Given the description of an element on the screen output the (x, y) to click on. 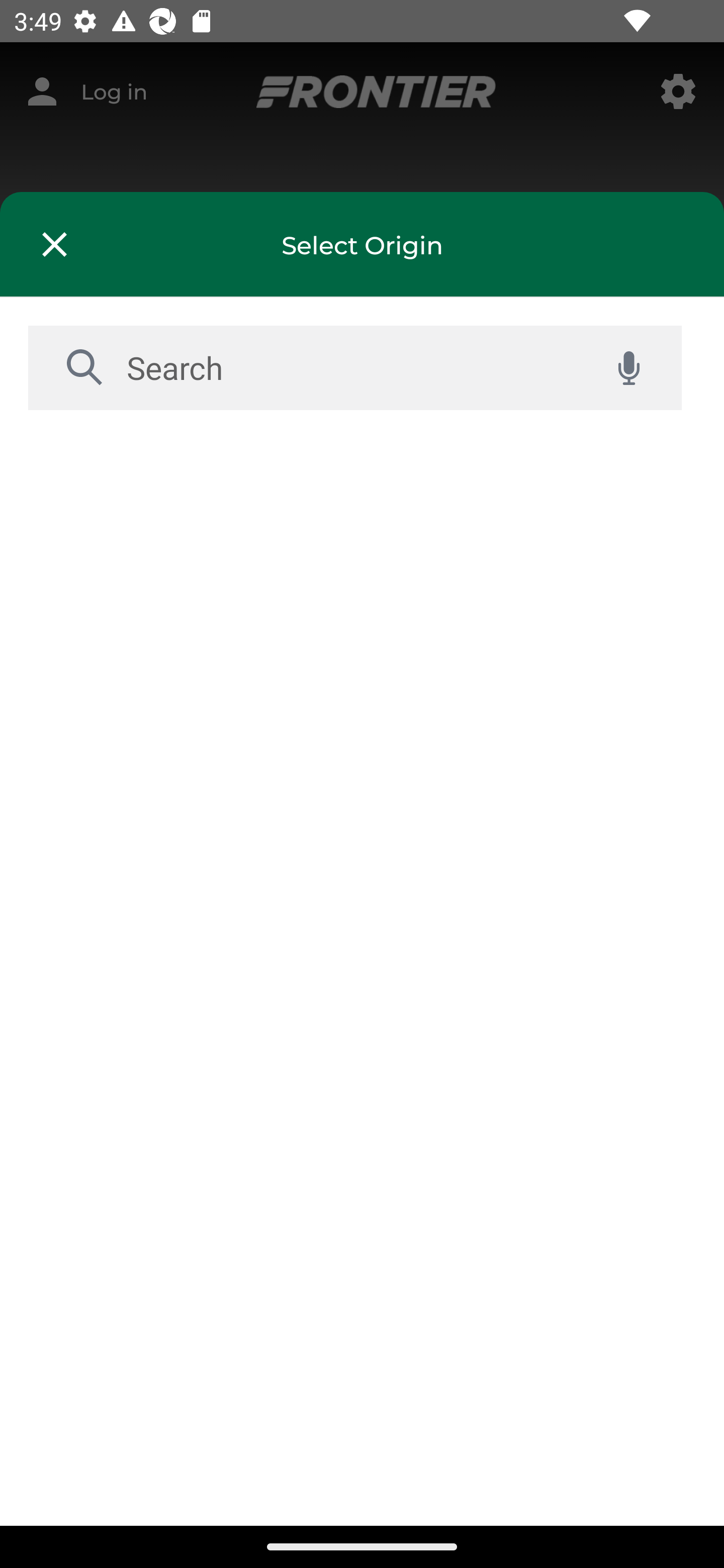
Voice search (628, 368)
Search (351, 367)
